Given the description of an element on the screen output the (x, y) to click on. 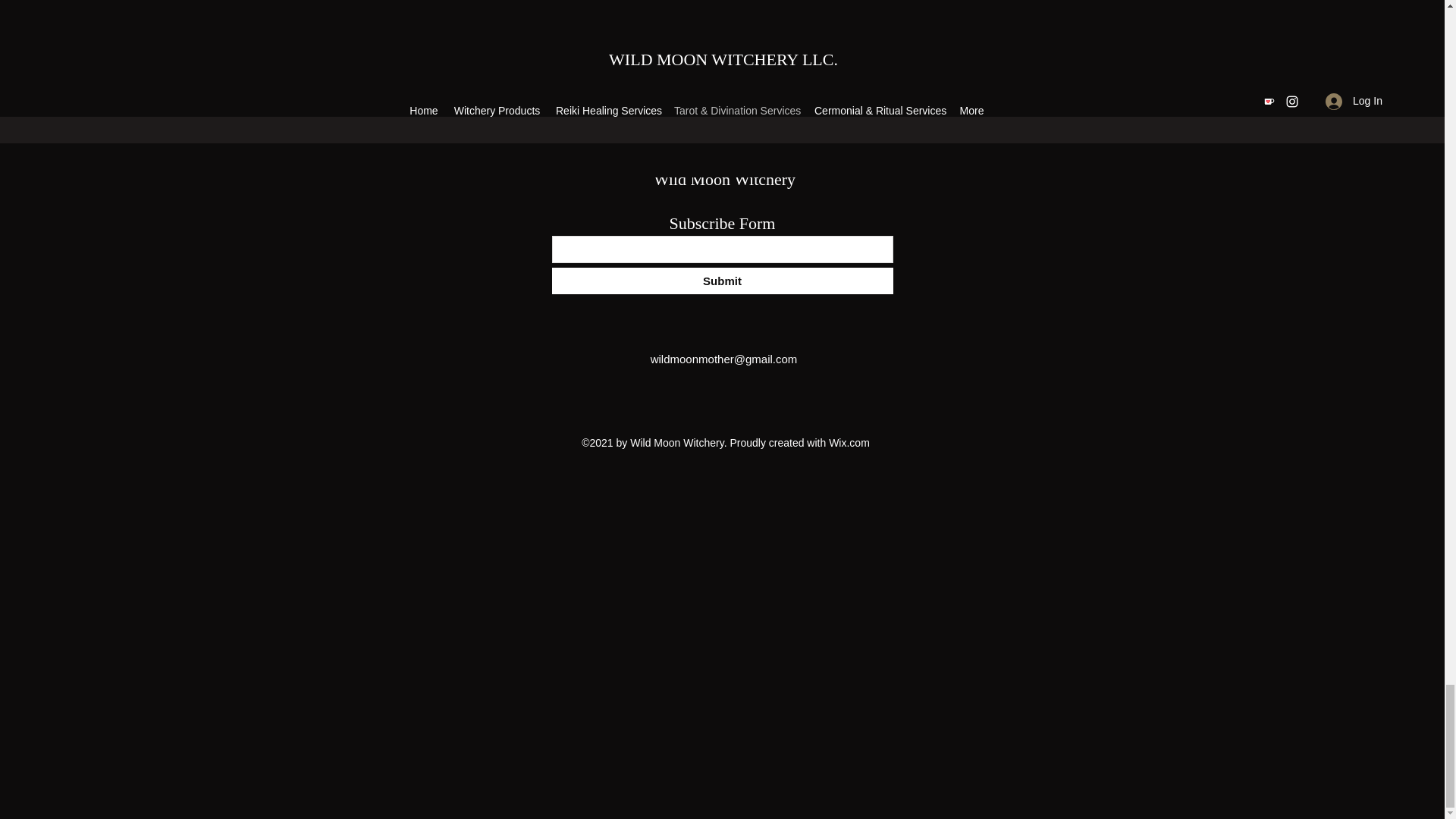
Wild Moon Witchery (723, 179)
Submit (722, 280)
